Given the description of an element on the screen output the (x, y) to click on. 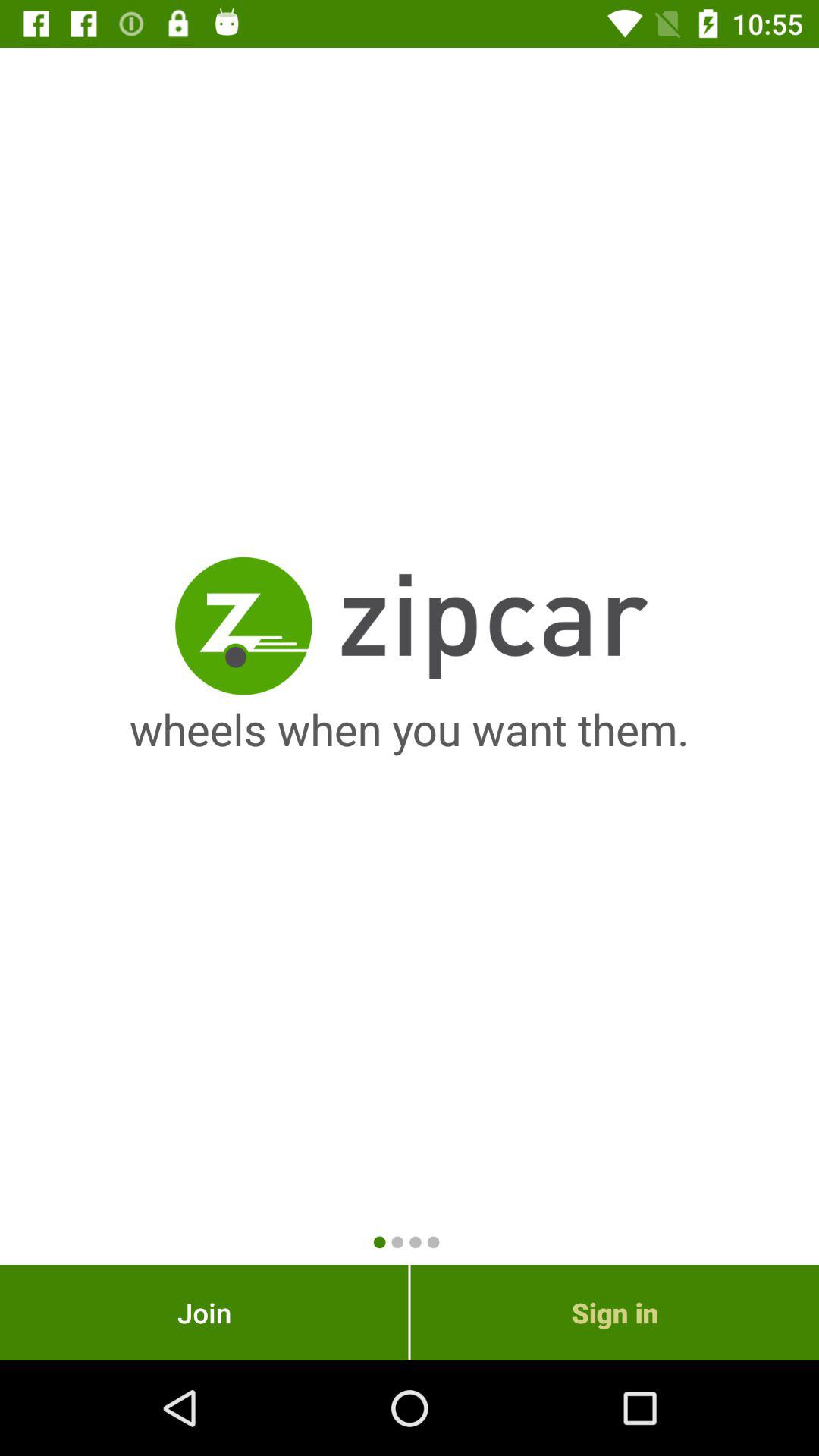
swipe to the join icon (204, 1312)
